Given the description of an element on the screen output the (x, y) to click on. 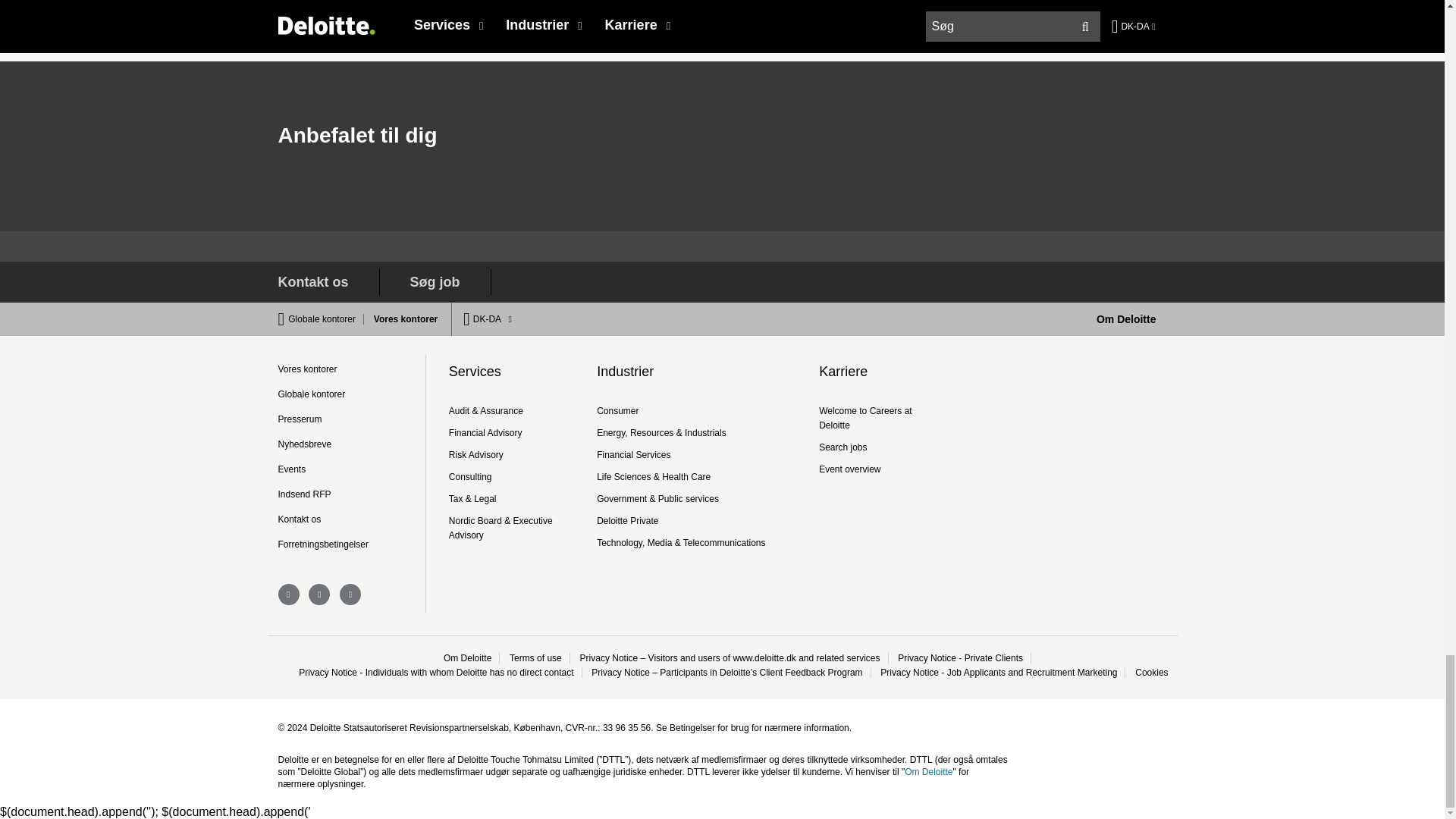
Om Deloitte (1126, 318)
facebook (319, 594)
linkedin (288, 594)
Vores kontorer (402, 318)
twitter (350, 594)
Globale kontorer (326, 318)
